Given the description of an element on the screen output the (x, y) to click on. 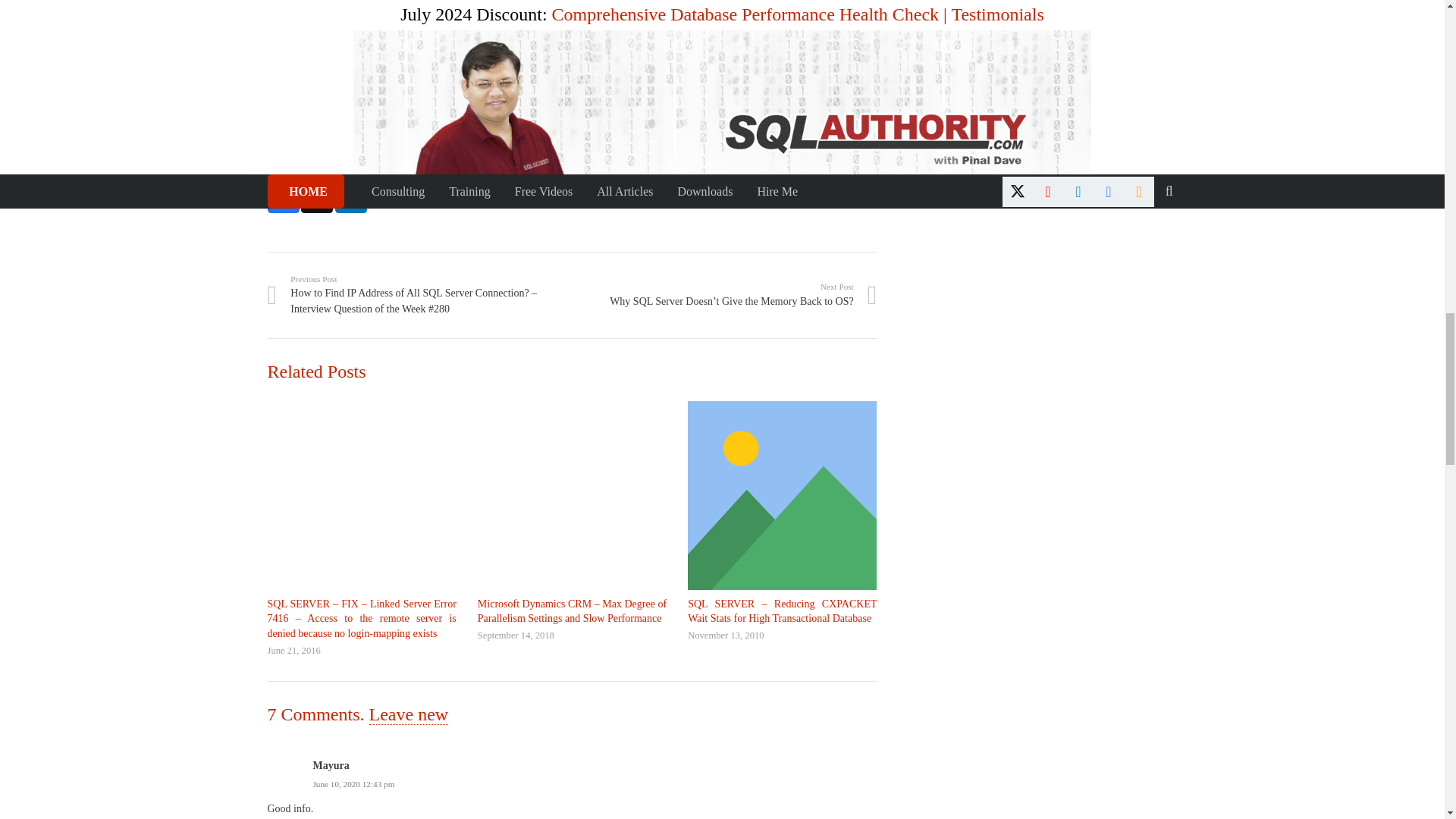
June 10, 2020 12:43 pm (353, 783)
